Given the description of an element on the screen output the (x, y) to click on. 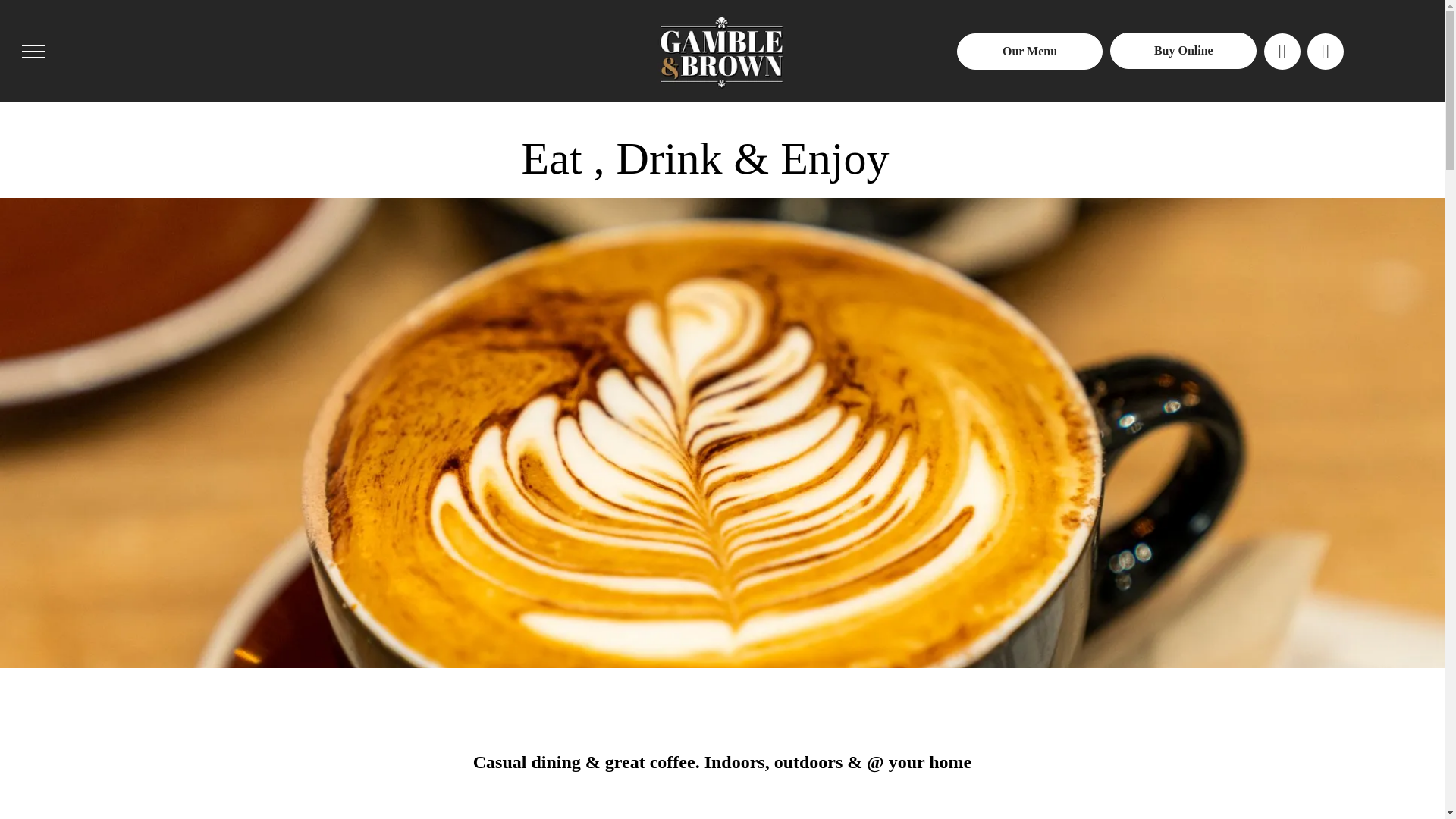
Buy Online Element type: text (1183, 50)
Our Menu Element type: text (1030, 51)
